Given the description of an element on the screen output the (x, y) to click on. 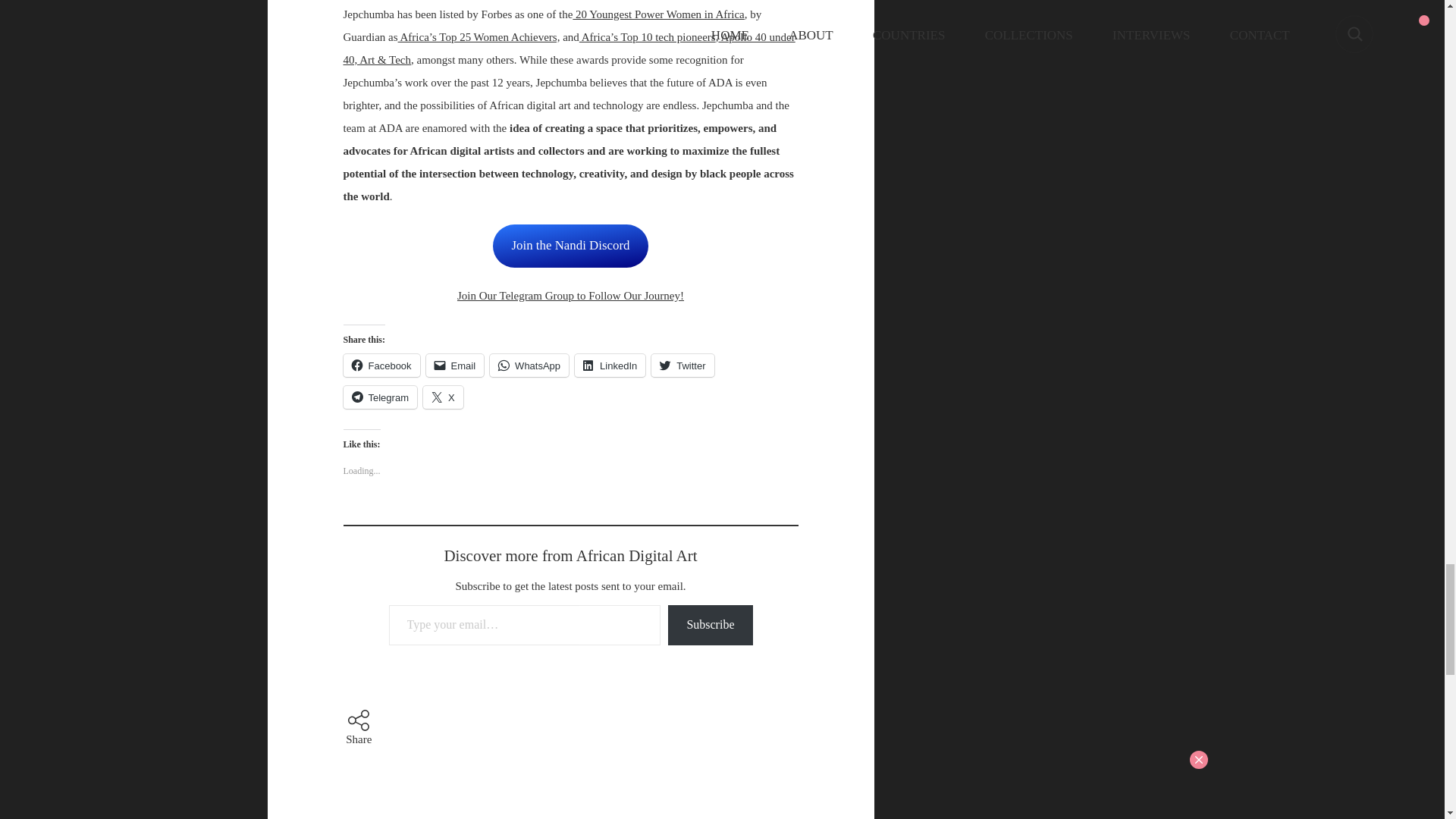
Please fill in this field. (524, 625)
Click to share on LinkedIn (610, 364)
Click to share on WhatsApp (529, 364)
Click to share on Facebook (380, 364)
Click to share on Twitter (681, 364)
Click to share on Telegram (379, 396)
Click to share on X (443, 396)
Click to email a link to a friend (455, 364)
